Given the description of an element on the screen output the (x, y) to click on. 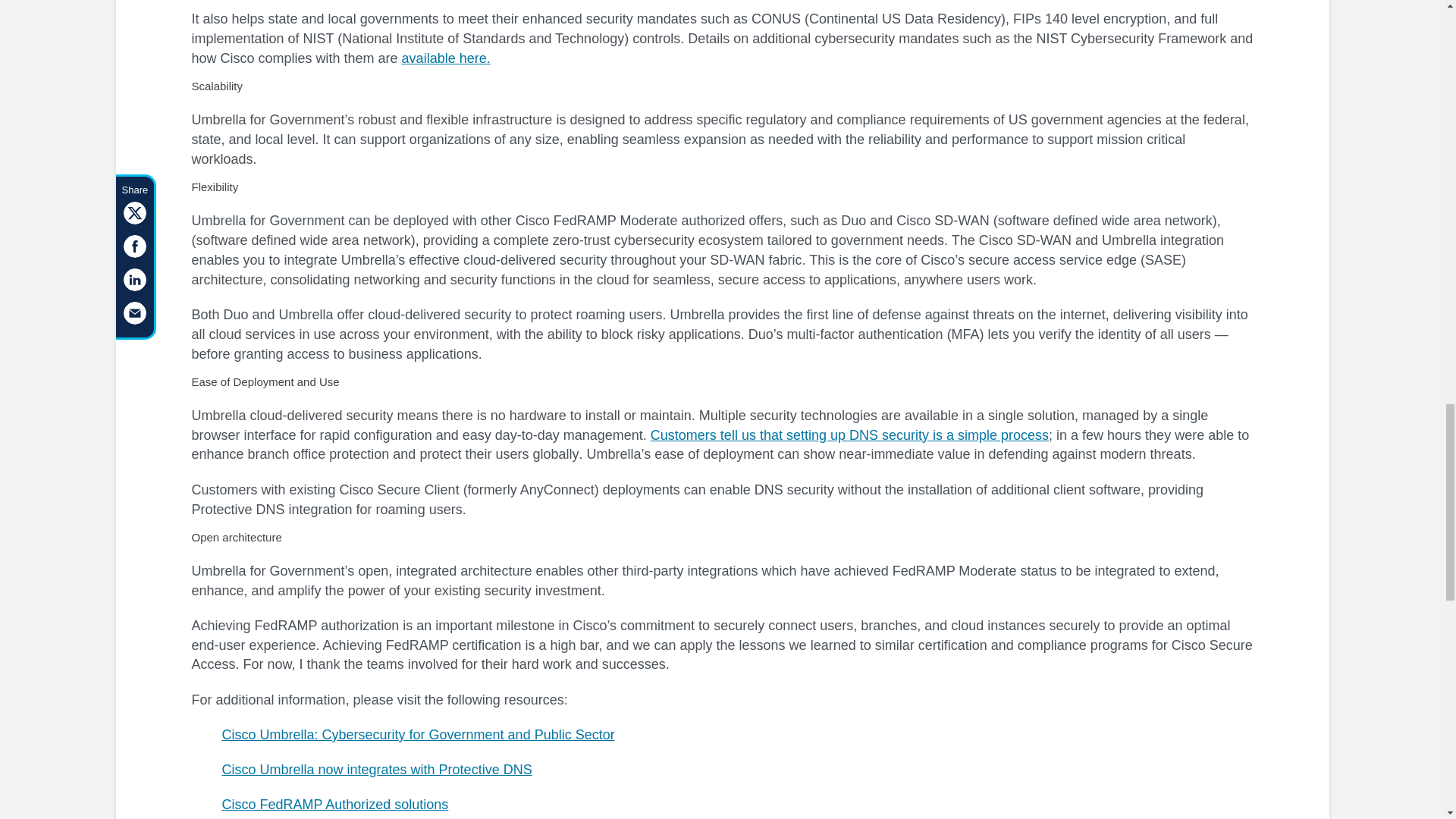
Cisco FedRAMP Authorized solutions (334, 804)
available here. (445, 58)
Cisco Umbrella now integrates with Protective DNS (376, 769)
